Given the description of an element on the screen output the (x, y) to click on. 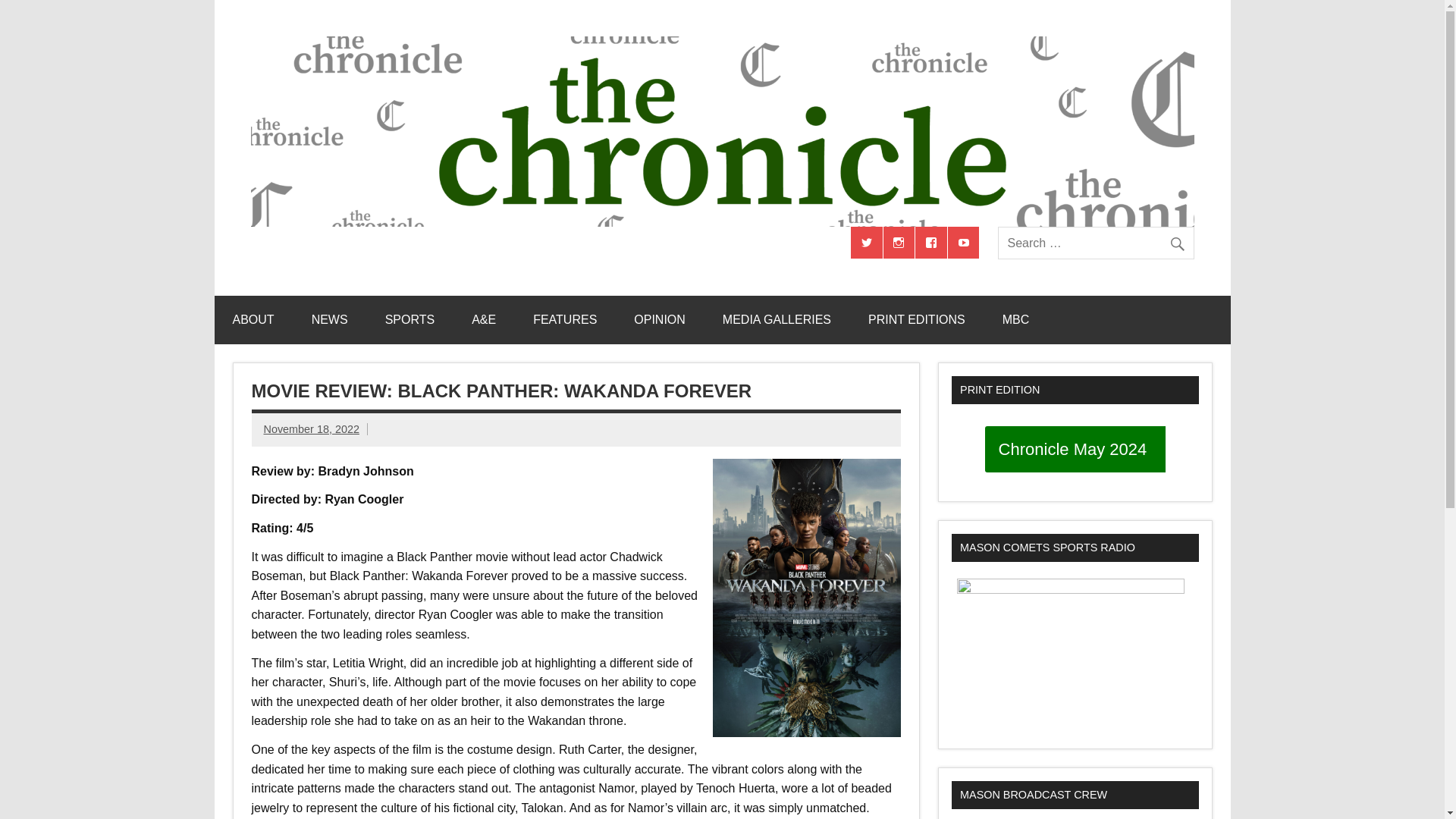
SPORTS (409, 319)
PRINT EDITIONS (917, 319)
OPINION (659, 319)
FEATURES (564, 319)
MEDIA GALLERIES (776, 319)
November 18, 2022 (311, 428)
ABOUT (253, 319)
Instagram (899, 242)
NEWS (330, 319)
MBC (1016, 319)
